Given the description of an element on the screen output the (x, y) to click on. 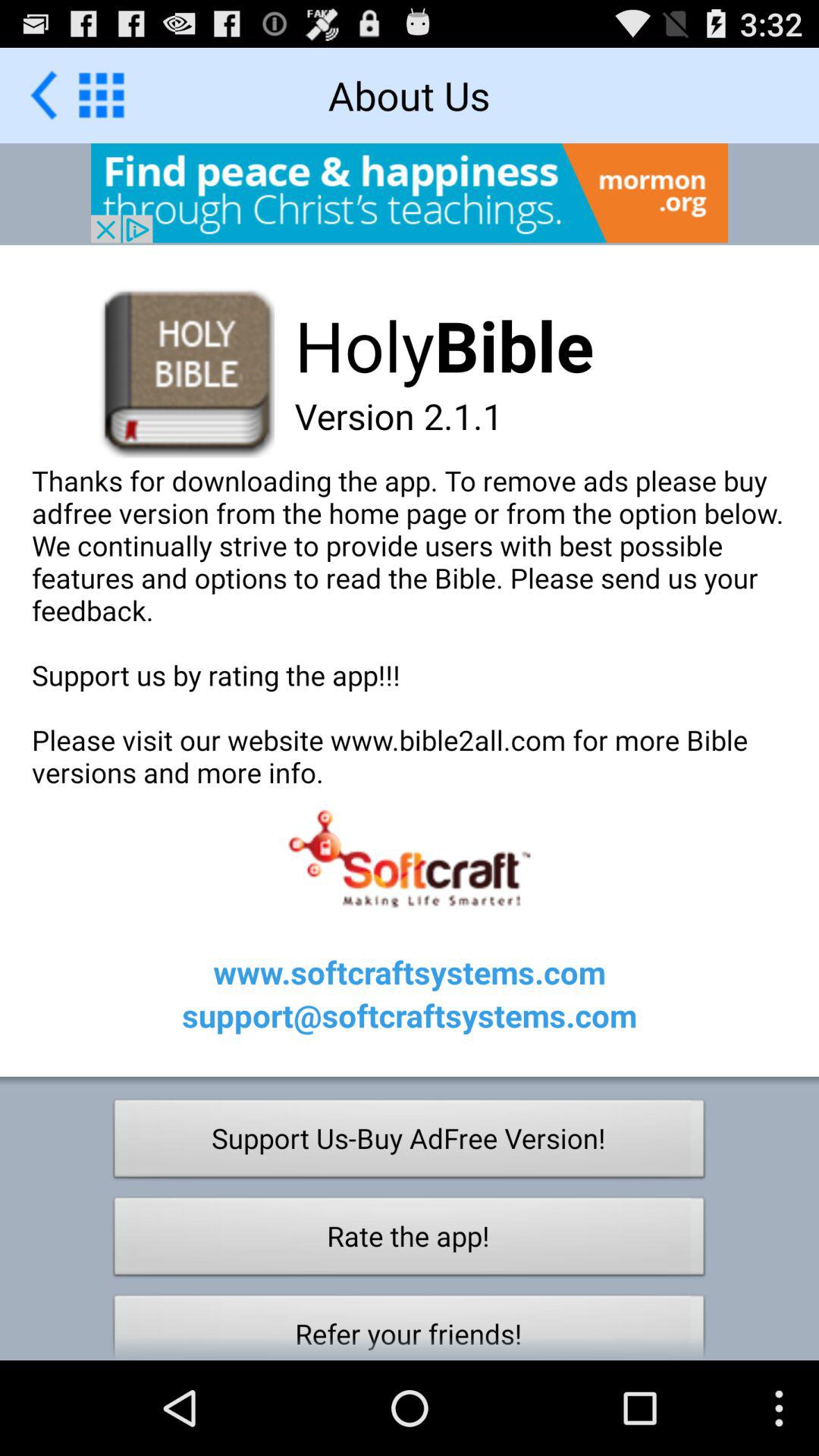
go back to main menu (101, 95)
